Given the description of an element on the screen output the (x, y) to click on. 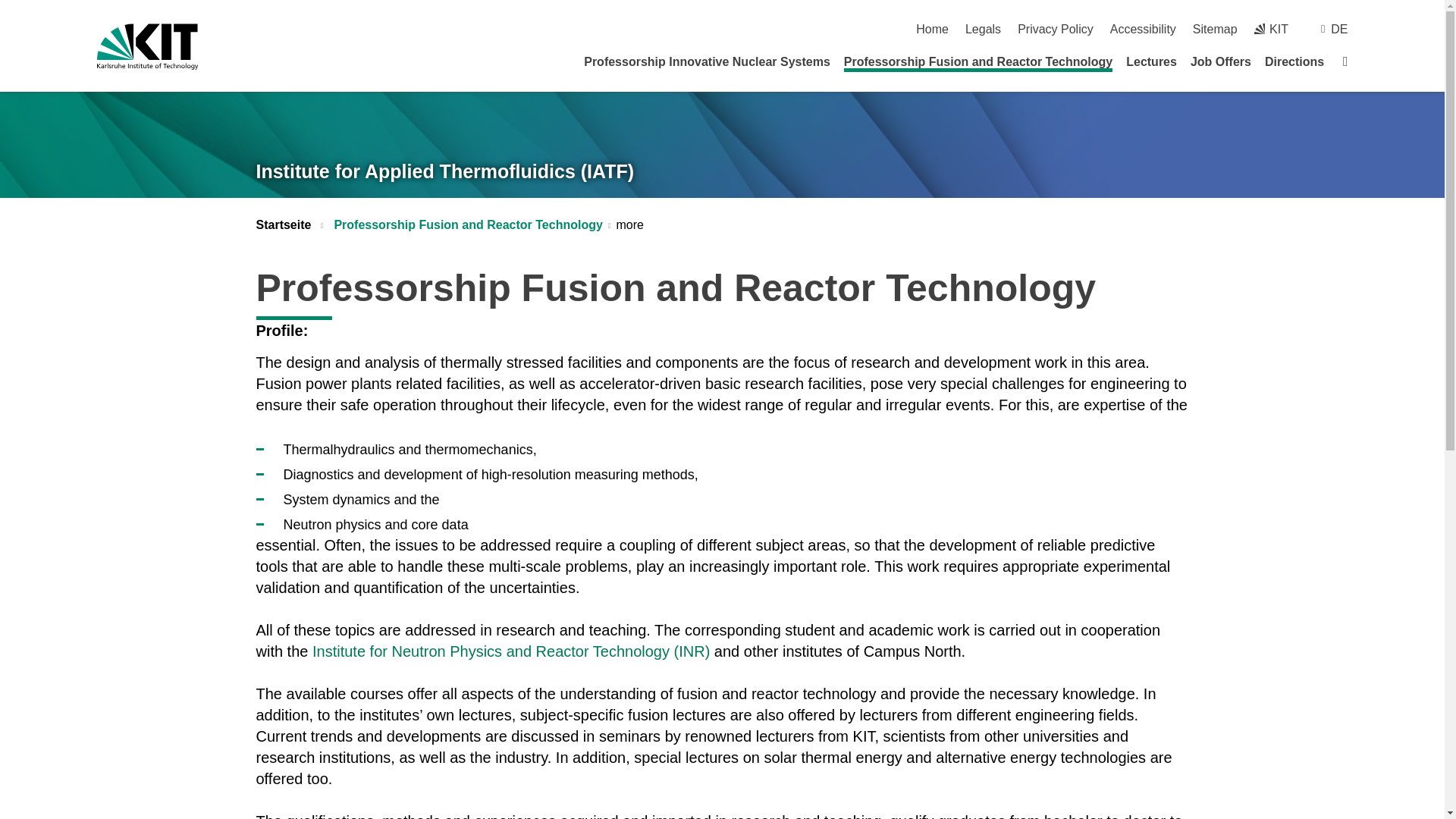
Professorship Innovative Nuclear Systems (706, 61)
Legals (983, 29)
Privacy Policy (1055, 29)
startpage (932, 29)
Accessibility (1142, 29)
Sitemap (1214, 29)
KIT (1270, 29)
Home (932, 29)
DE (1339, 29)
KIT-Homepage (147, 46)
KIT-Homepage (1270, 29)
